Given the description of an element on the screen output the (x, y) to click on. 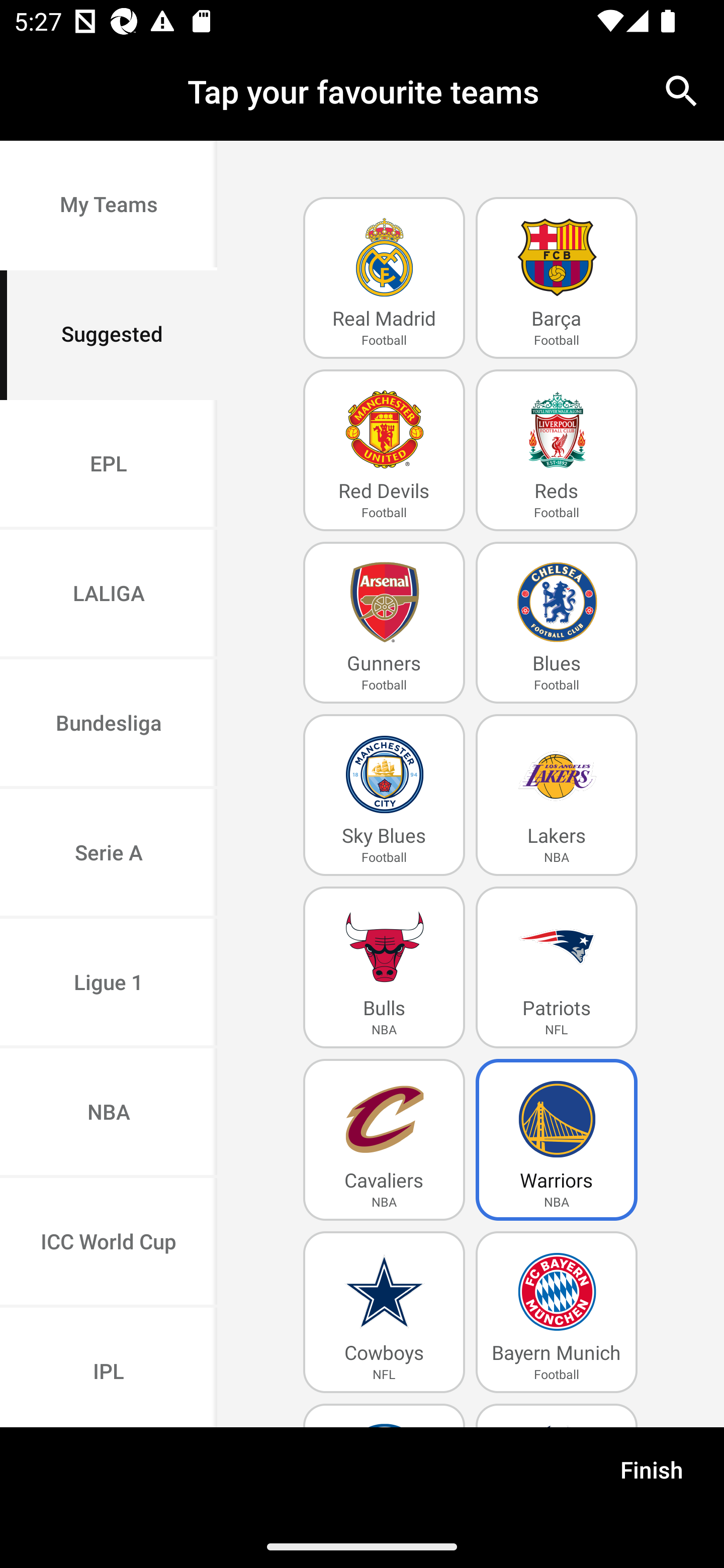
search (681, 90)
My Teams (108, 206)
Real Madrid Real Madrid Football (383, 278)
Barça Barça Football (556, 278)
Suggested (108, 334)
Red Devils Red Devils Football (383, 450)
Reds Reds Football (556, 450)
EPL (108, 464)
LALIGA (108, 594)
Gunners Gunners Football (383, 623)
Blues Blues Football (556, 623)
Bundesliga (108, 725)
Sky Blues Sky Blues Football (383, 794)
Lakers Lakers NBA (556, 794)
Serie A (108, 853)
Bulls Bulls NBA (383, 966)
Patriots Patriots NFL (556, 966)
Ligue 1 (108, 983)
NBA (108, 1113)
Cavaliers Cavaliers NBA (383, 1139)
Warriors WarriorsSelected NBA (556, 1139)
ICC World Cup (108, 1242)
Cowboys Cowboys NFL (383, 1311)
Bayern Munich Bayern Munich Football (556, 1311)
IPL (108, 1366)
Finish Finish and Close (651, 1475)
